Given the description of an element on the screen output the (x, y) to click on. 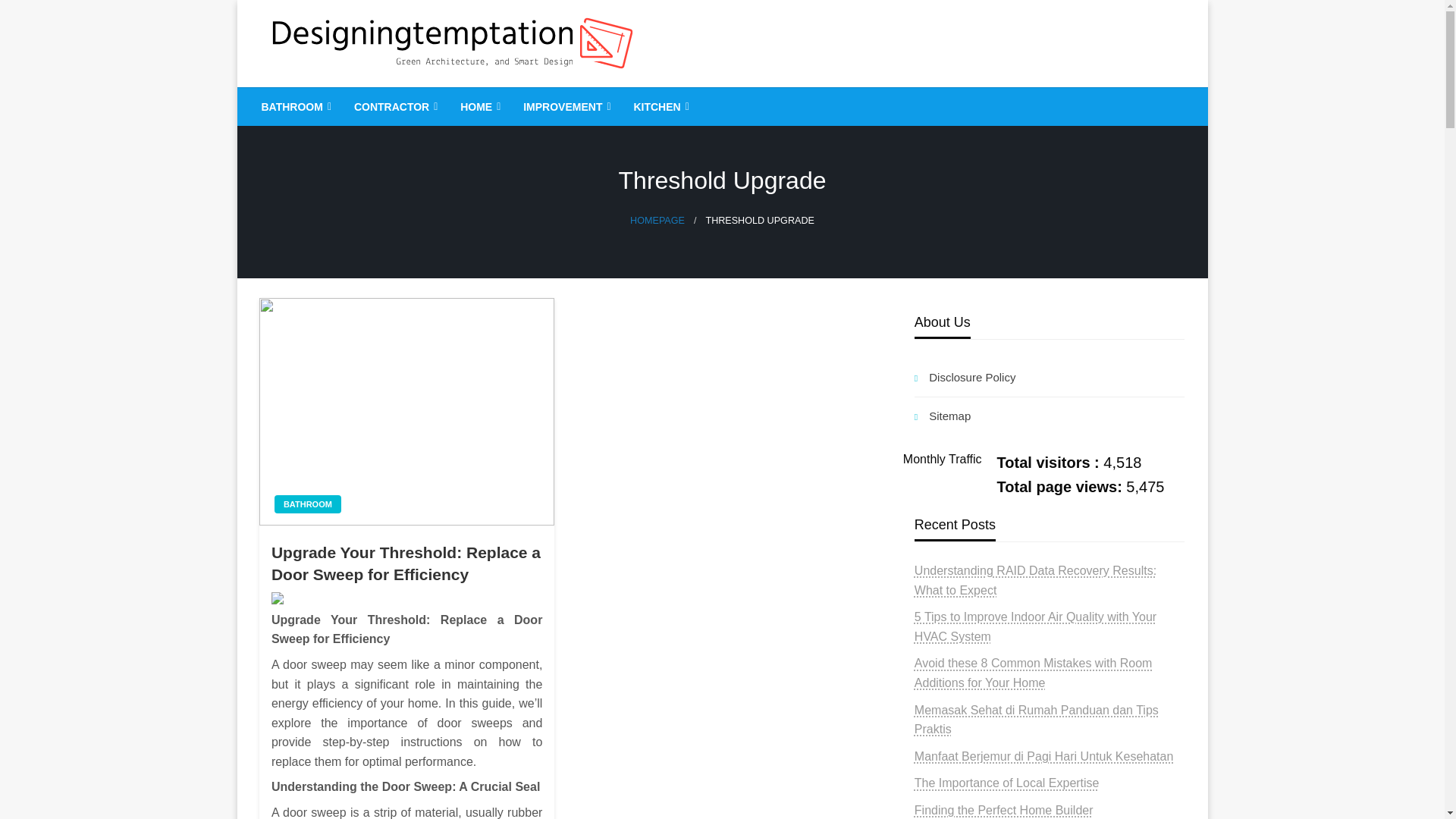
HOMEPAGE (657, 220)
BATHROOM (307, 504)
CONTRACTOR (393, 106)
BATHROOM (294, 106)
Upgrade Your Threshold: Replace a Door Sweep for Efficiency (405, 563)
Sitemap (1049, 415)
HOME (478, 106)
Understanding RAID Data Recovery Results: What to Expect (1035, 580)
KITCHEN (659, 106)
IMPROVEMENT (565, 106)
Disclosure Policy (1049, 377)
Homepage (657, 220)
Designingtemptation (401, 99)
